Given the description of an element on the screen output the (x, y) to click on. 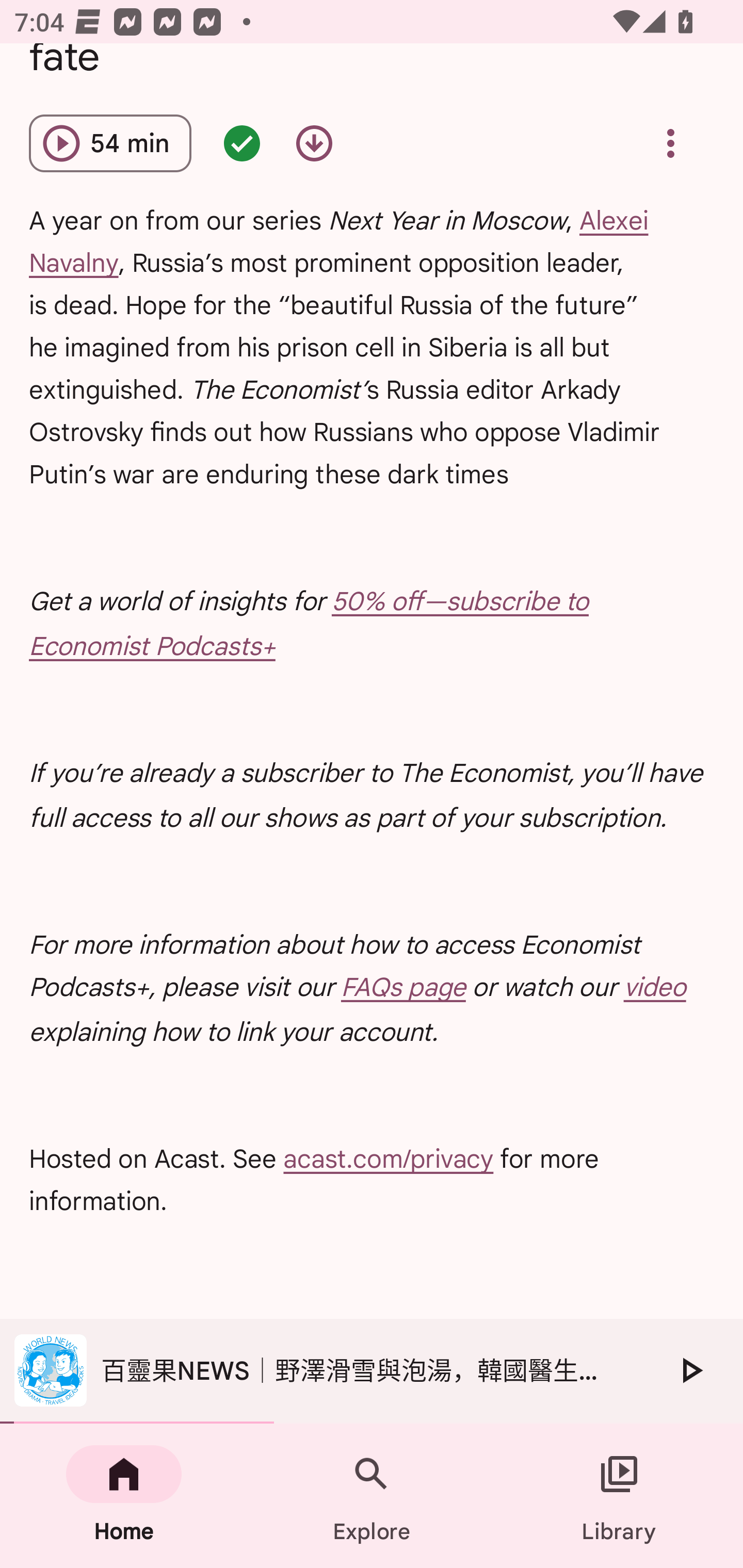
Episode queued - double tap for options (241, 143)
Download episode (313, 143)
Overflow menu (670, 143)
Play (690, 1370)
Explore (371, 1495)
Library (619, 1495)
